Given the description of an element on the screen output the (x, y) to click on. 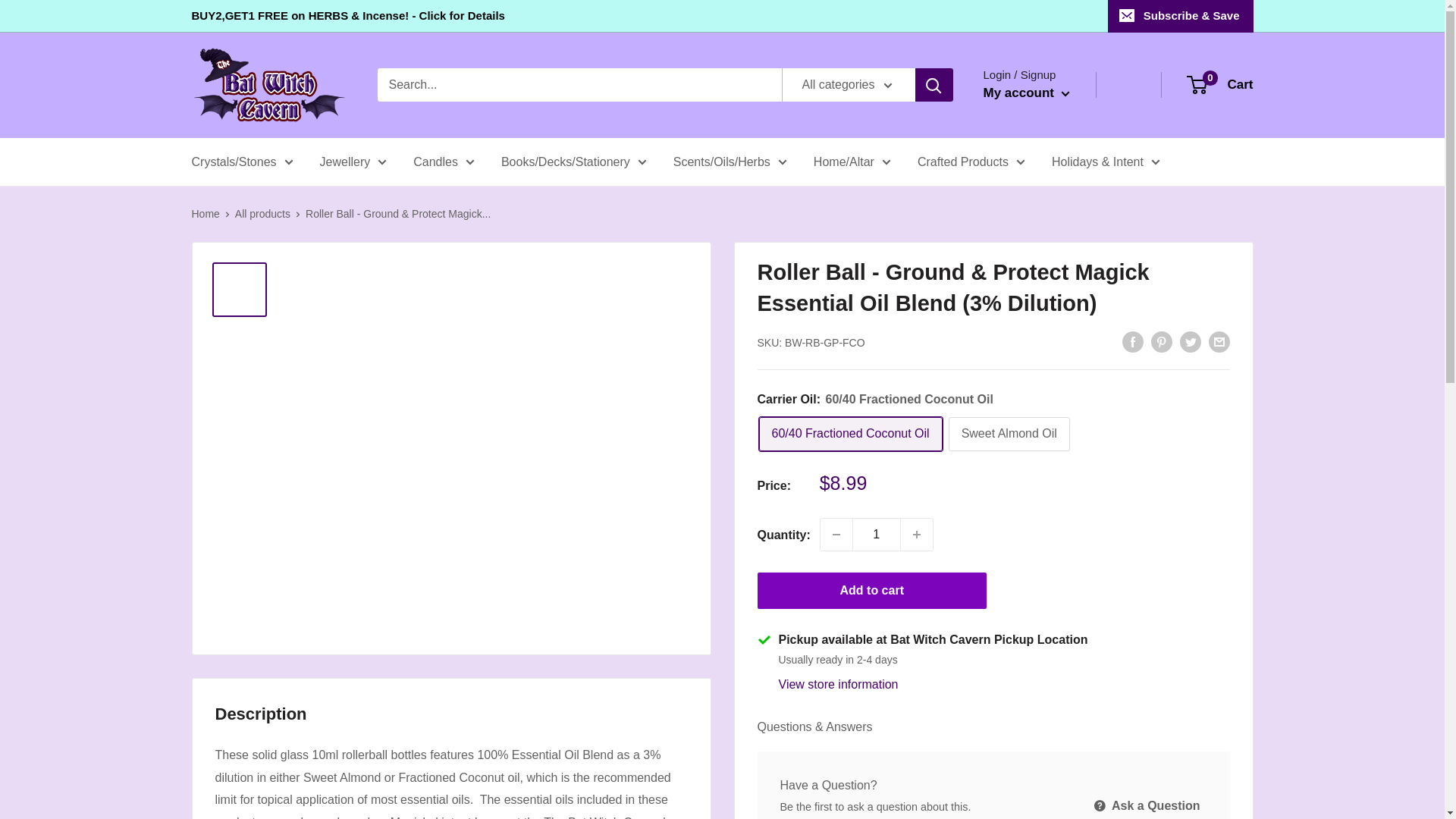
Increase quantity by 1 (917, 534)
Sweet Almond Oil (1009, 433)
1 (876, 534)
Decrease quantity by 1 (836, 534)
